Given the description of an element on the screen output the (x, y) to click on. 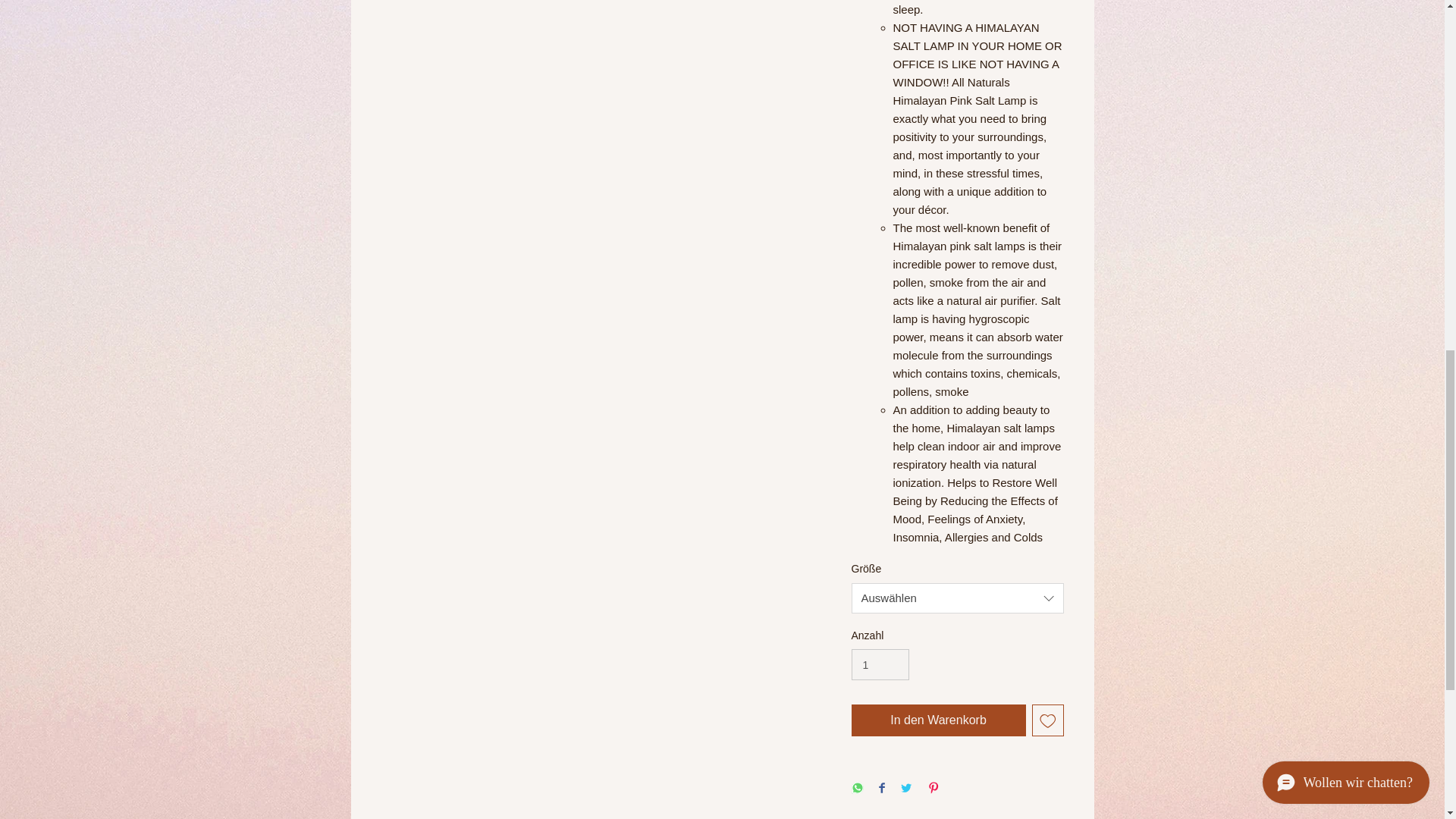
1 (879, 664)
In den Warenkorb (937, 720)
